Given the description of an element on the screen output the (x, y) to click on. 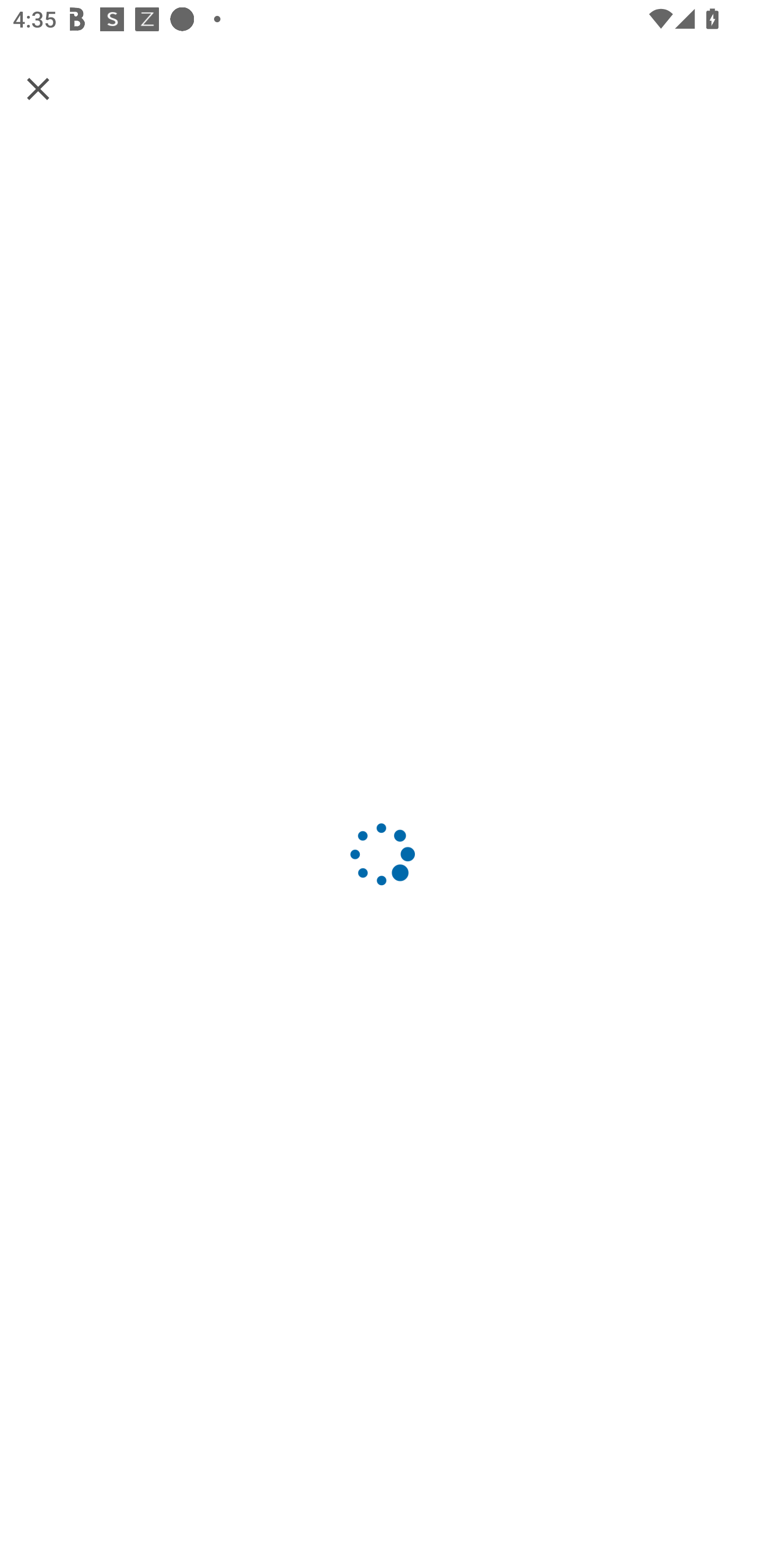
Close (38, 88)
